Given the description of an element on the screen output the (x, y) to click on. 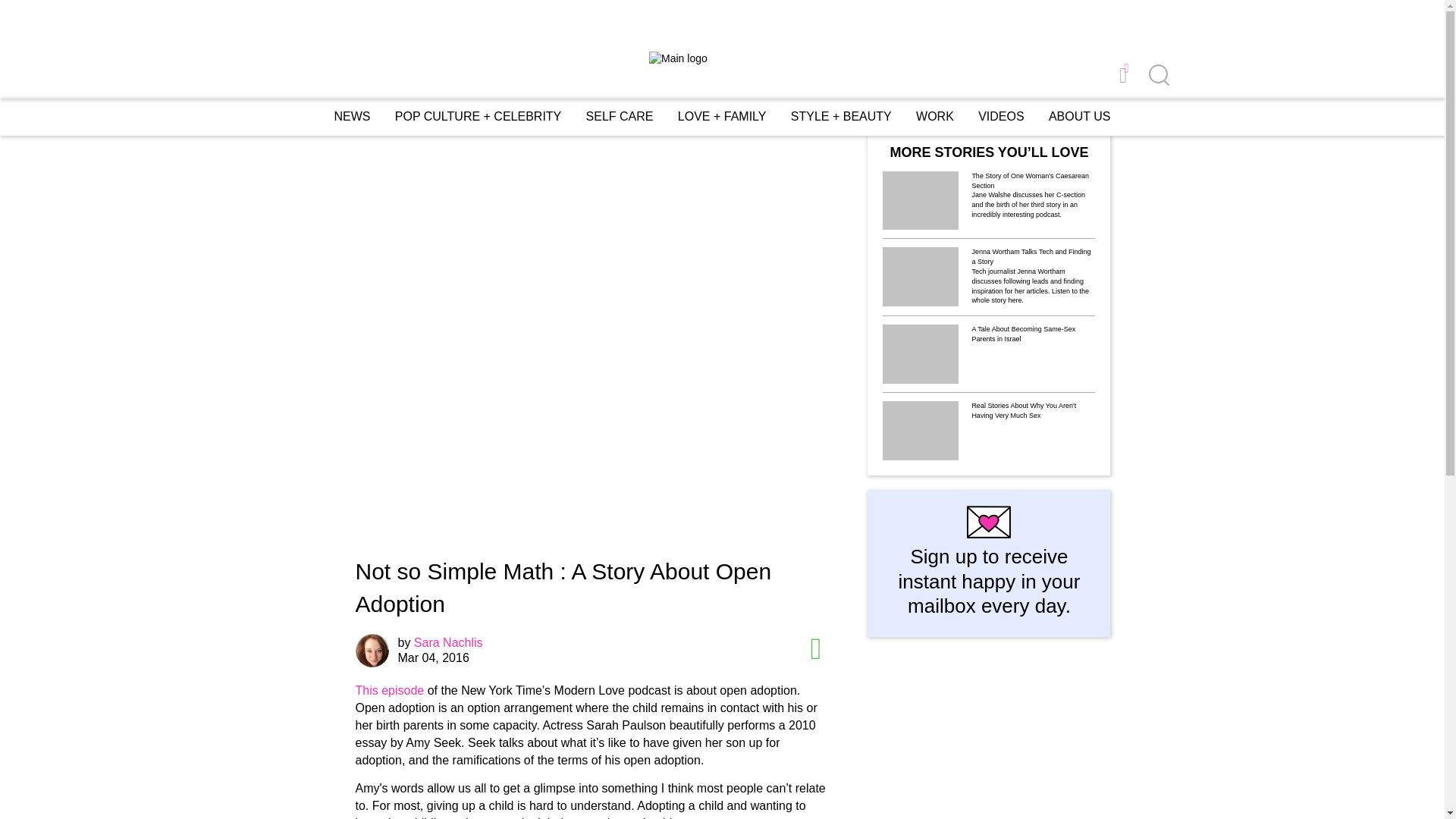
Sara Nachlis (448, 642)
A Tale About Becoming Same-Sex Parents in Israel (1032, 335)
Open Search Field. (1158, 75)
NEWS (351, 115)
SELF CARE (619, 115)
This episode (389, 689)
ABOUT US (1079, 117)
VIDEOS (1000, 117)
WORK (934, 115)
Real Stories About Why You Aren't Having Very Much Sex (1032, 412)
